Given the description of an element on the screen output the (x, y) to click on. 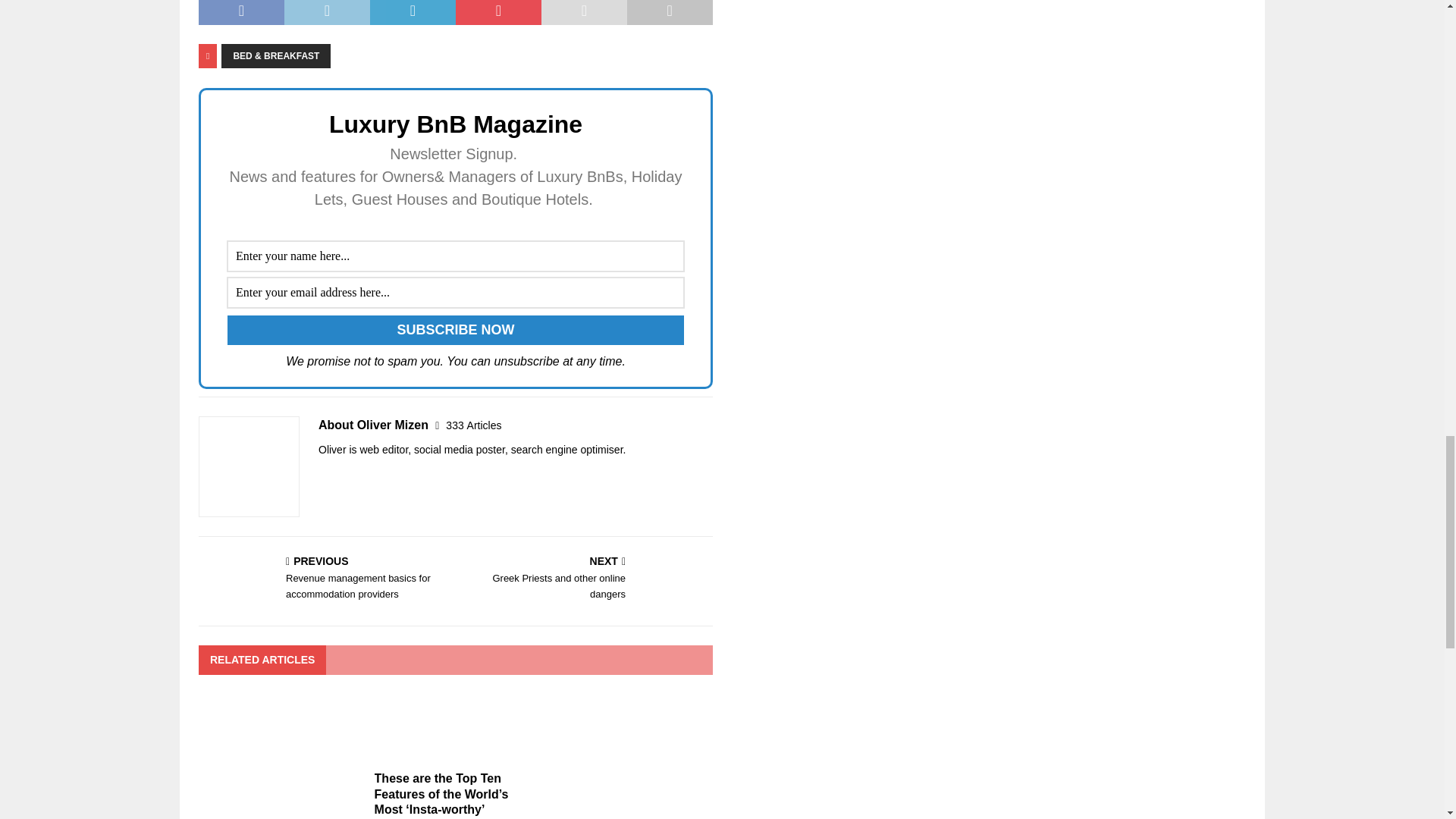
Subscribe Now (455, 329)
